Given the description of an element on the screen output the (x, y) to click on. 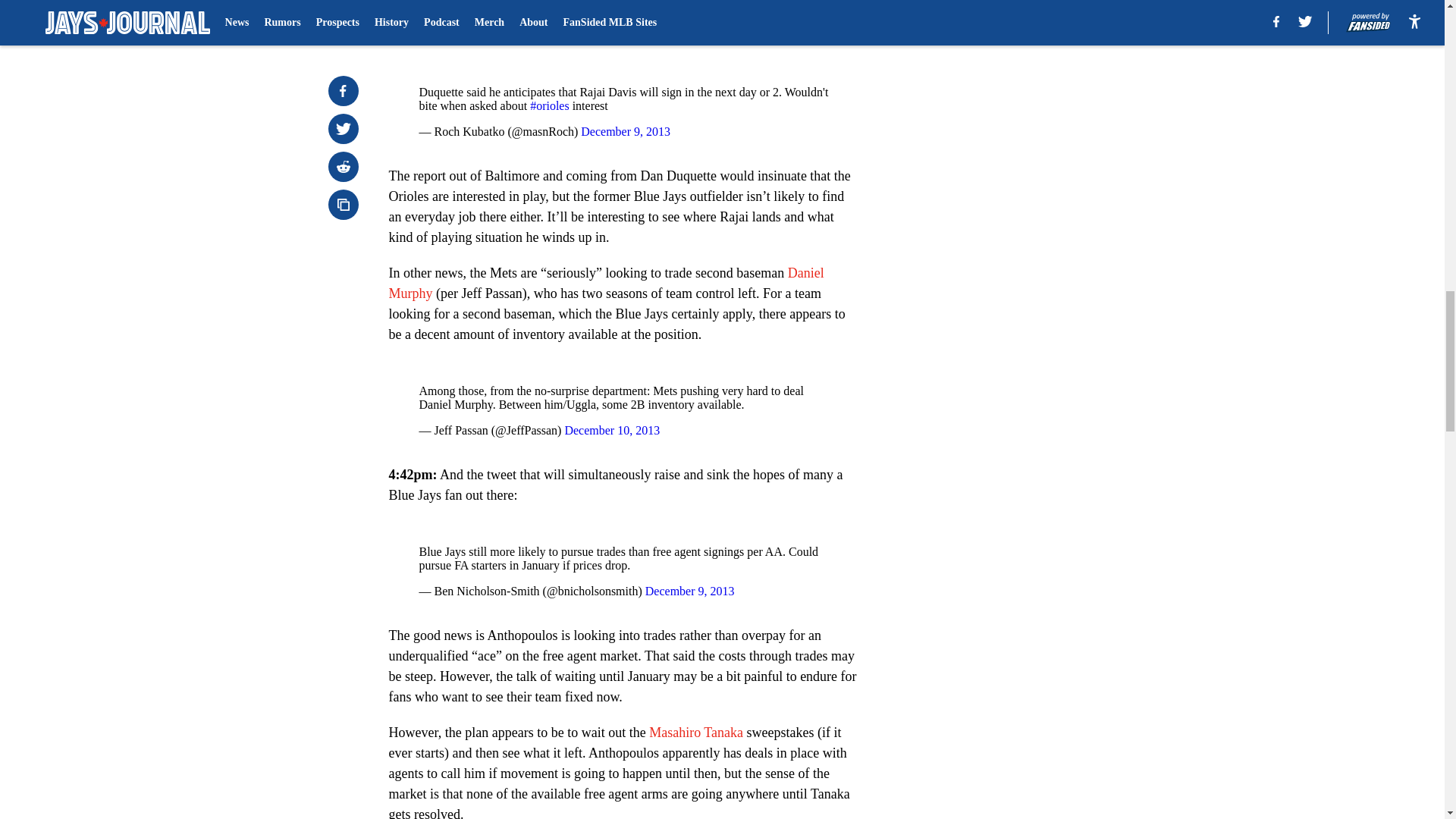
December 9, 2013 (624, 131)
December 9, 2013 (690, 590)
Rajai Davis (665, 14)
Masahiro Tanaka (695, 732)
December 10, 2013 (611, 430)
Daniel Murphy (606, 283)
